Given the description of an element on the screen output the (x, y) to click on. 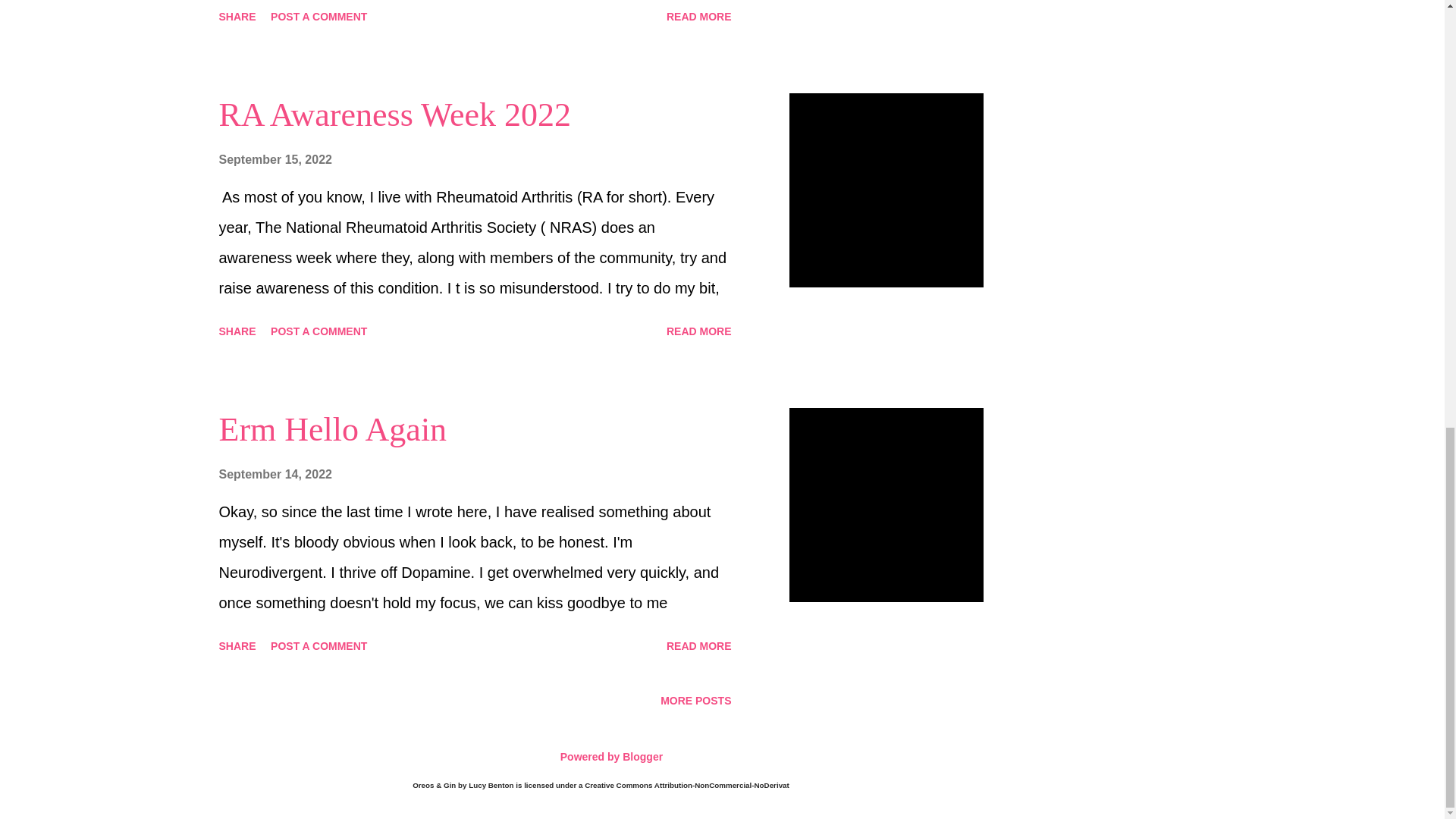
SHARE (237, 16)
POST A COMMENT (318, 331)
September 15, 2022 (274, 159)
RA Awareness Week 2022 (394, 114)
SHARE (237, 331)
READ MORE (699, 331)
POST A COMMENT (318, 16)
READ MORE (699, 16)
Erm Hello Again (332, 429)
